Given the description of an element on the screen output the (x, y) to click on. 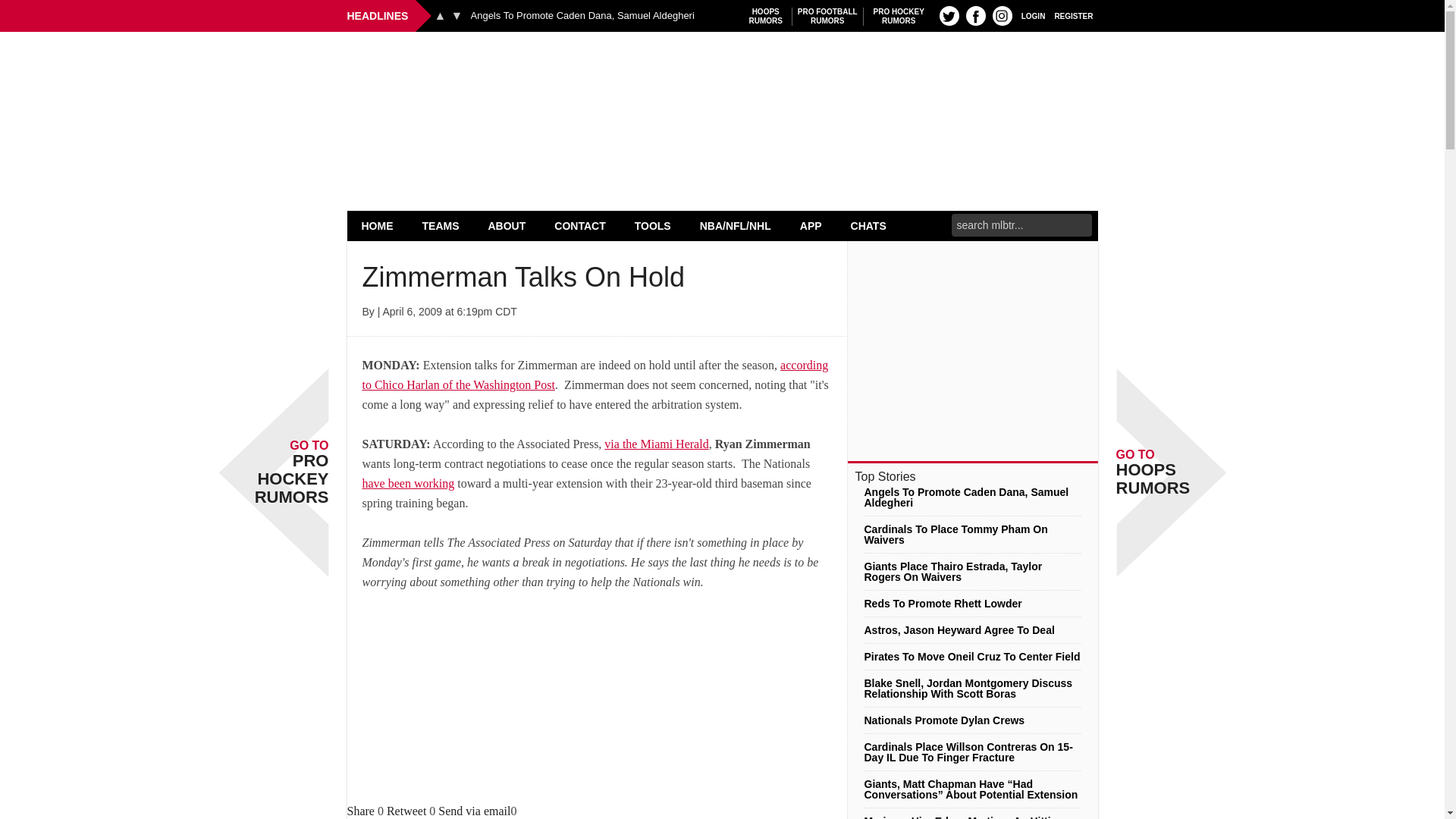
TEAMS (898, 16)
MLB Trade Rumors (440, 225)
Next (722, 69)
Retweet 'Zimmerman Talks On Hold' on Twitter (456, 15)
LOGIN (406, 810)
Twitter profile (765, 16)
Angels To Promote Caden Dana, Samuel Aldegheri (1032, 15)
